Given the description of an element on the screen output the (x, y) to click on. 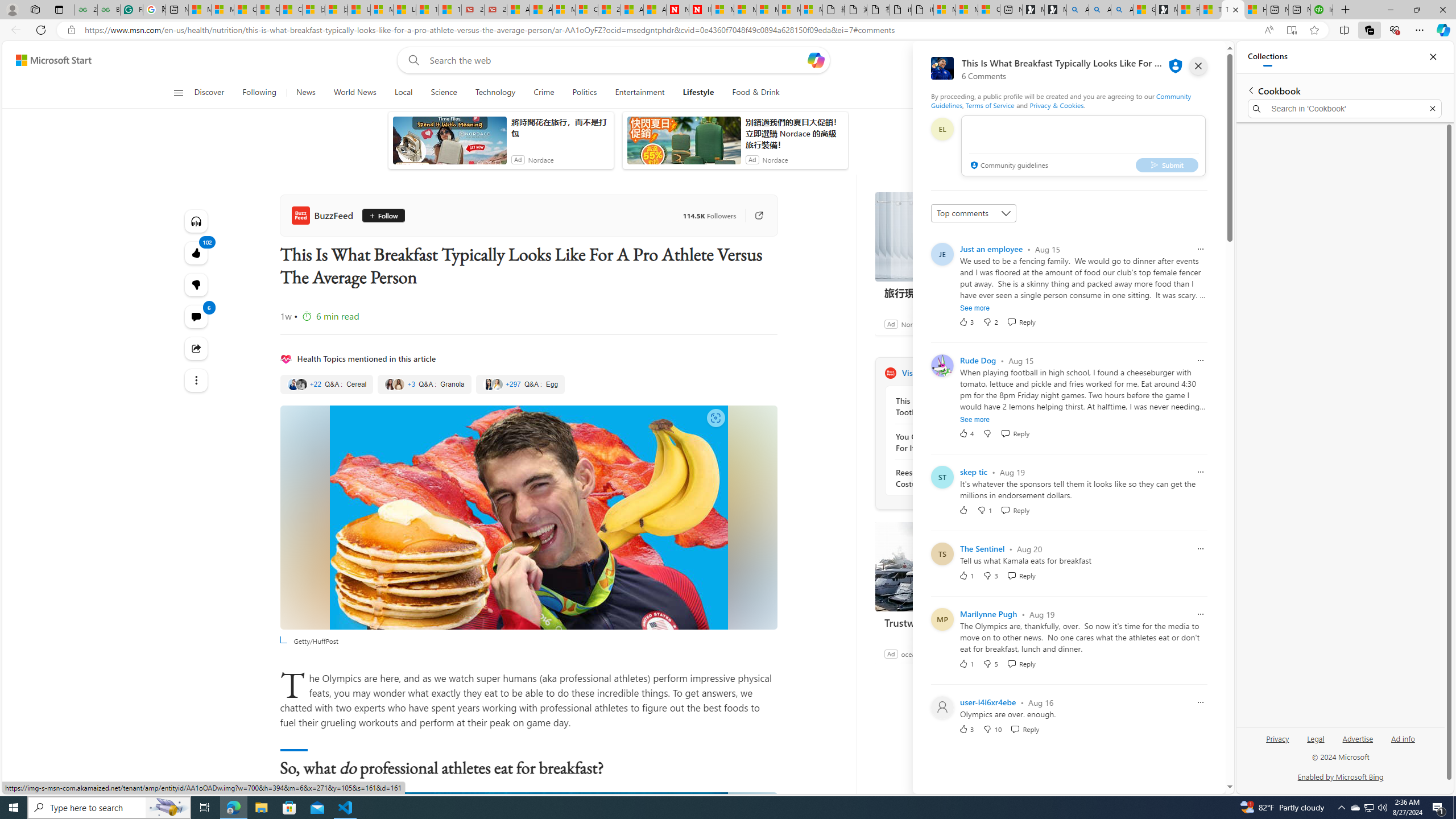
You Can Grab An iPad At Amazon For Its Lowest Price Ever (957, 441)
102 (196, 284)
Illness news & latest pictures from Newsweek.com (700, 9)
Listen to this article (196, 220)
anim-content (683, 144)
Egg (520, 384)
Intuit QuickBooks Online - Quickbooks (1322, 9)
Food and Drink - MSN (1188, 9)
oceanbluemarine (927, 653)
